Given the description of an element on the screen output the (x, y) to click on. 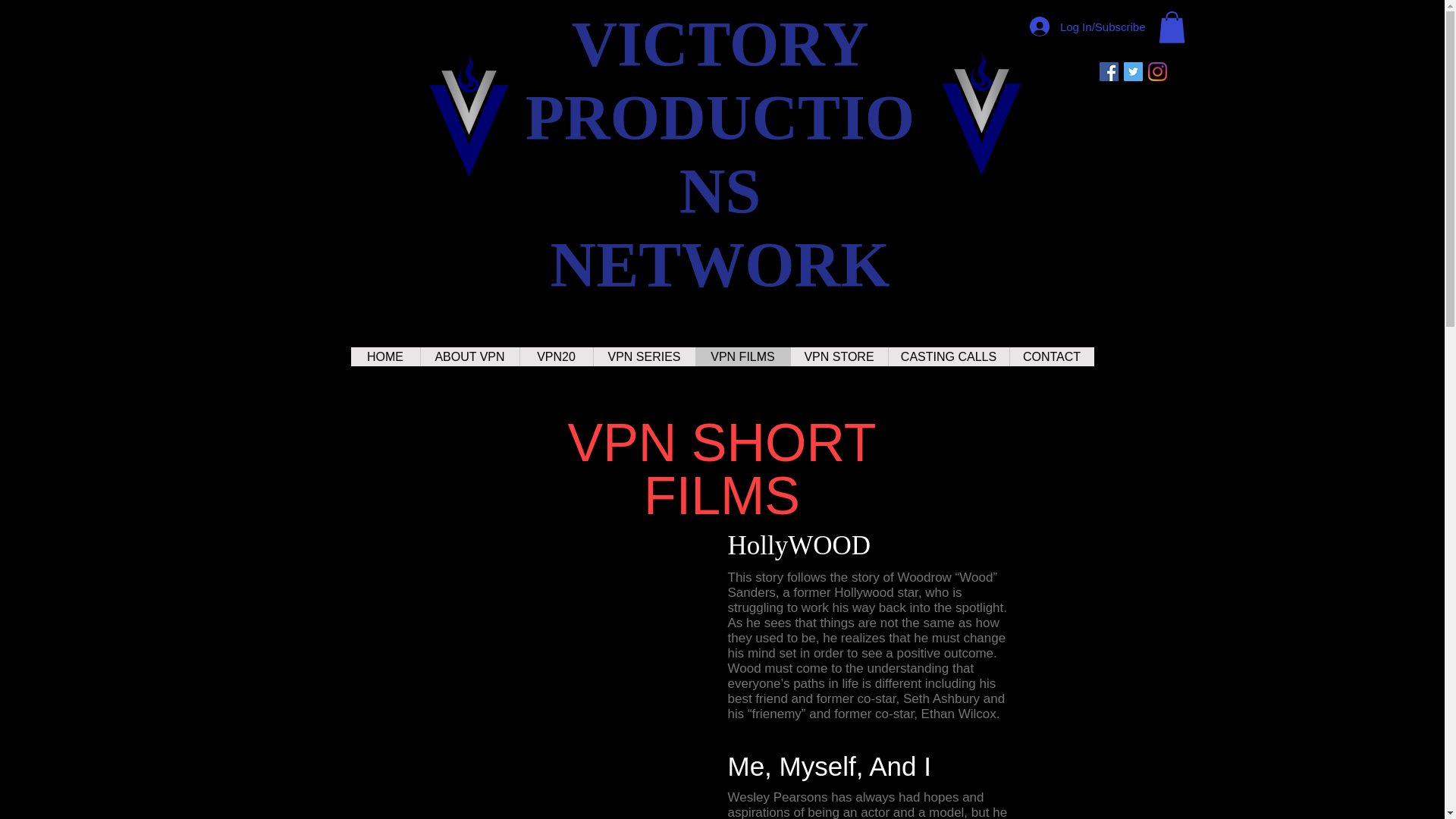
VPN FILMS (741, 356)
VICTORY PRODUCTIONS NETWORK (719, 154)
VPN SERIES (643, 356)
VPN20 (555, 356)
HOME (384, 356)
ABOUT VPN (469, 356)
